Given the description of an element on the screen output the (x, y) to click on. 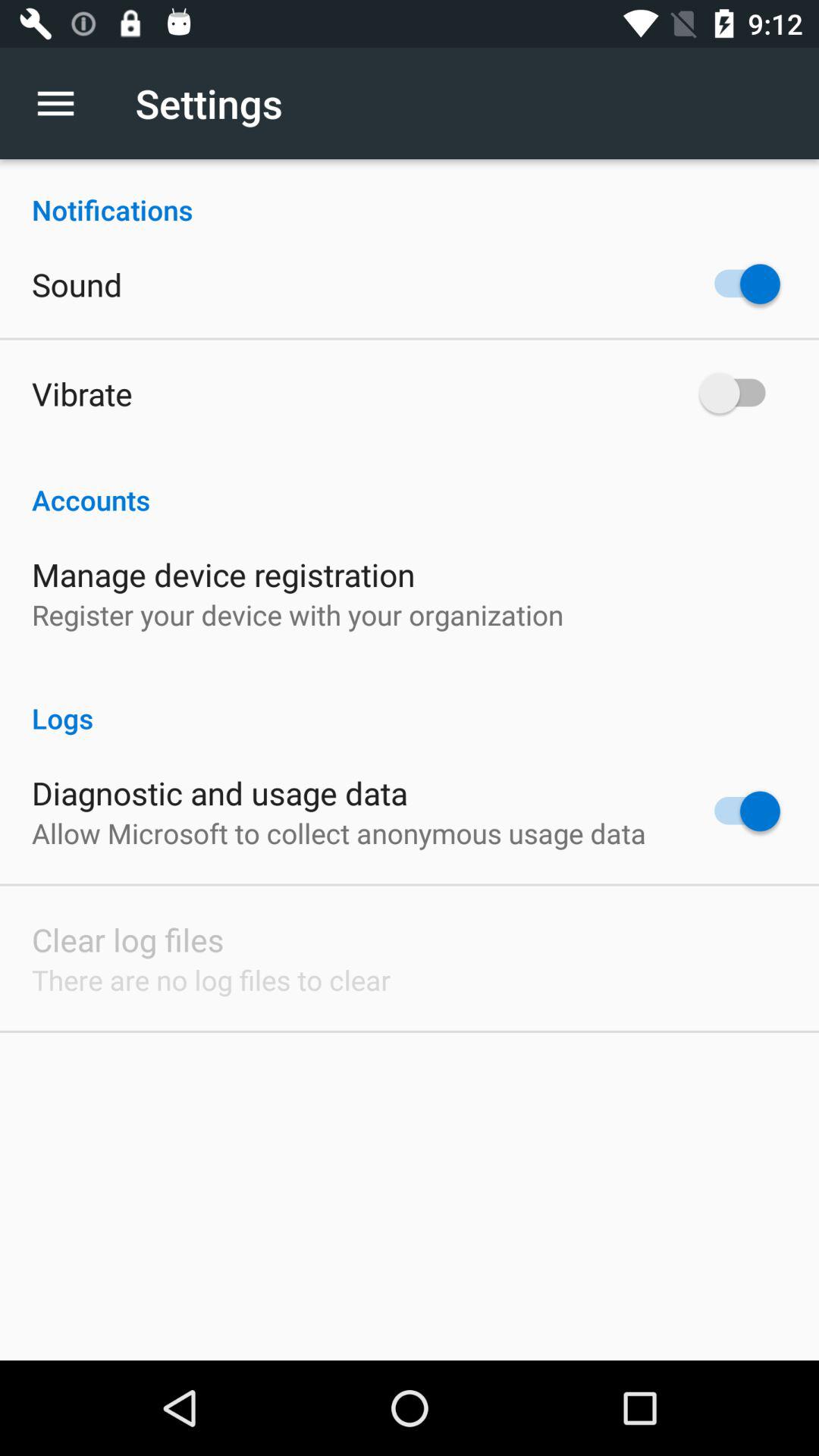
open the icon above the notifications app (63, 103)
